Given the description of an element on the screen output the (x, y) to click on. 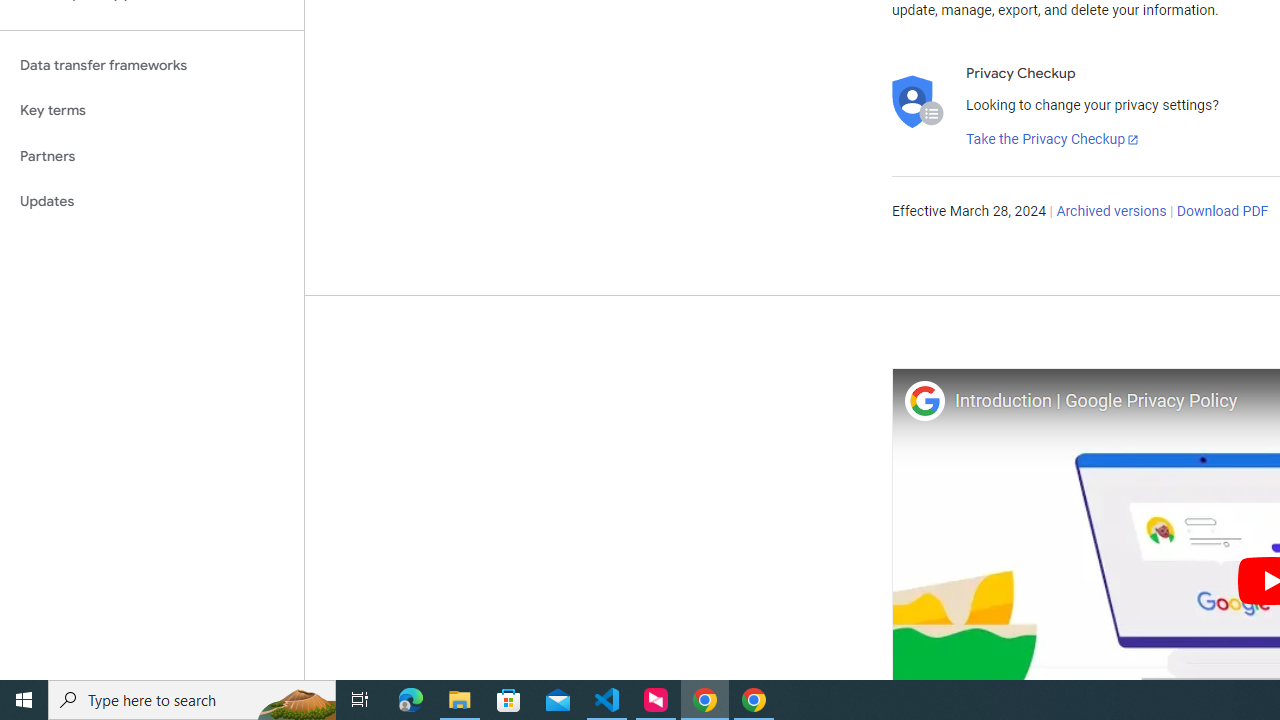
Partners (152, 156)
Take the Privacy Checkup (1053, 140)
Data transfer frameworks (152, 65)
Photo image of Google (924, 400)
Updates (152, 201)
Download PDF (1222, 212)
Key terms (152, 110)
Archived versions (1111, 212)
